Given the description of an element on the screen output the (x, y) to click on. 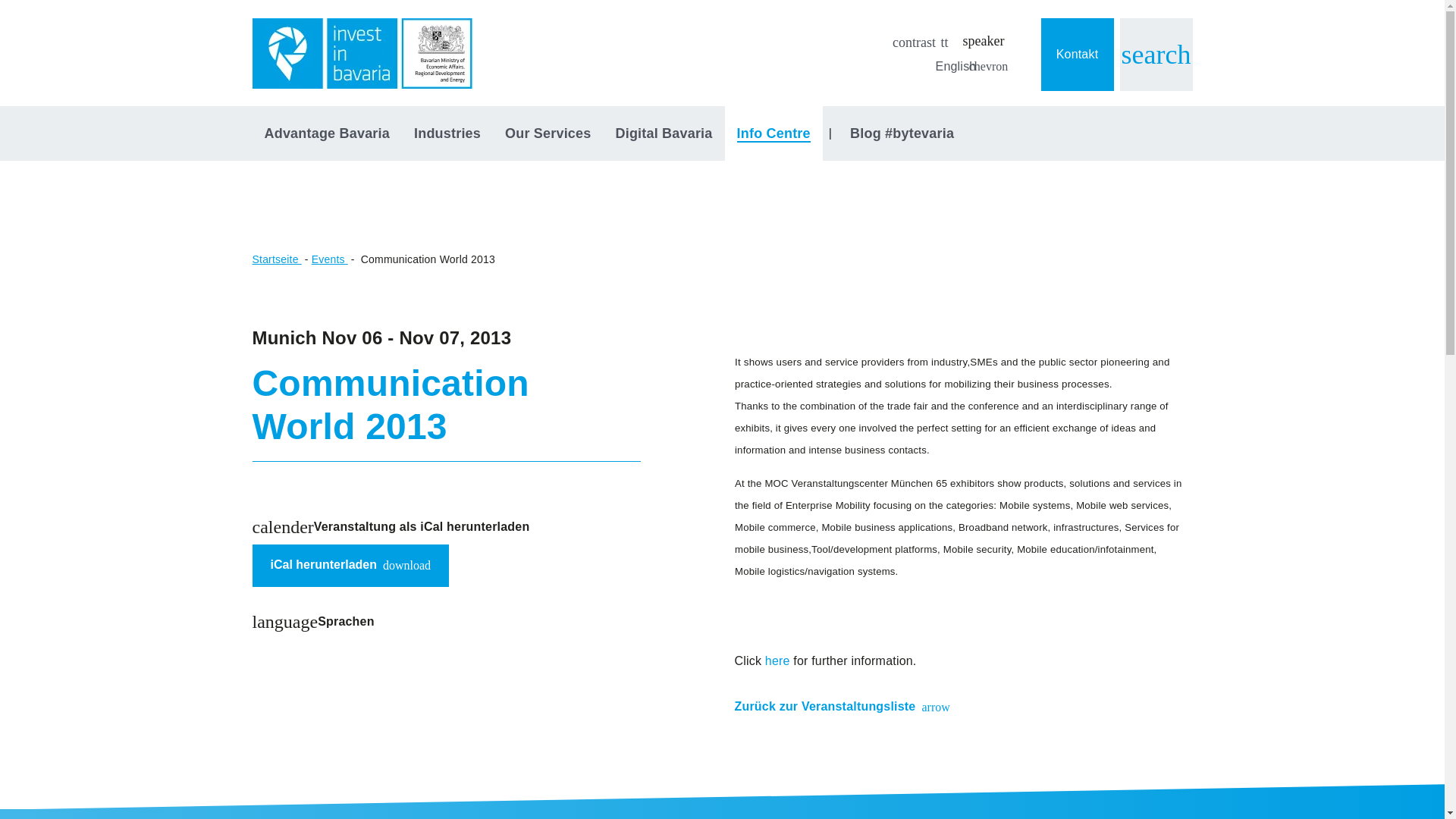
speaker (983, 41)
Our Services (547, 133)
here (777, 660)
Industries (447, 133)
tt (944, 42)
chevron (987, 66)
Advantage Bavaria (326, 133)
Info Centre (773, 133)
iCal herunterladen (322, 565)
Digital Bavaria (662, 133)
Kontakt (1077, 54)
Events (349, 565)
Startseite (329, 259)
contrast (276, 259)
